Given the description of an element on the screen output the (x, y) to click on. 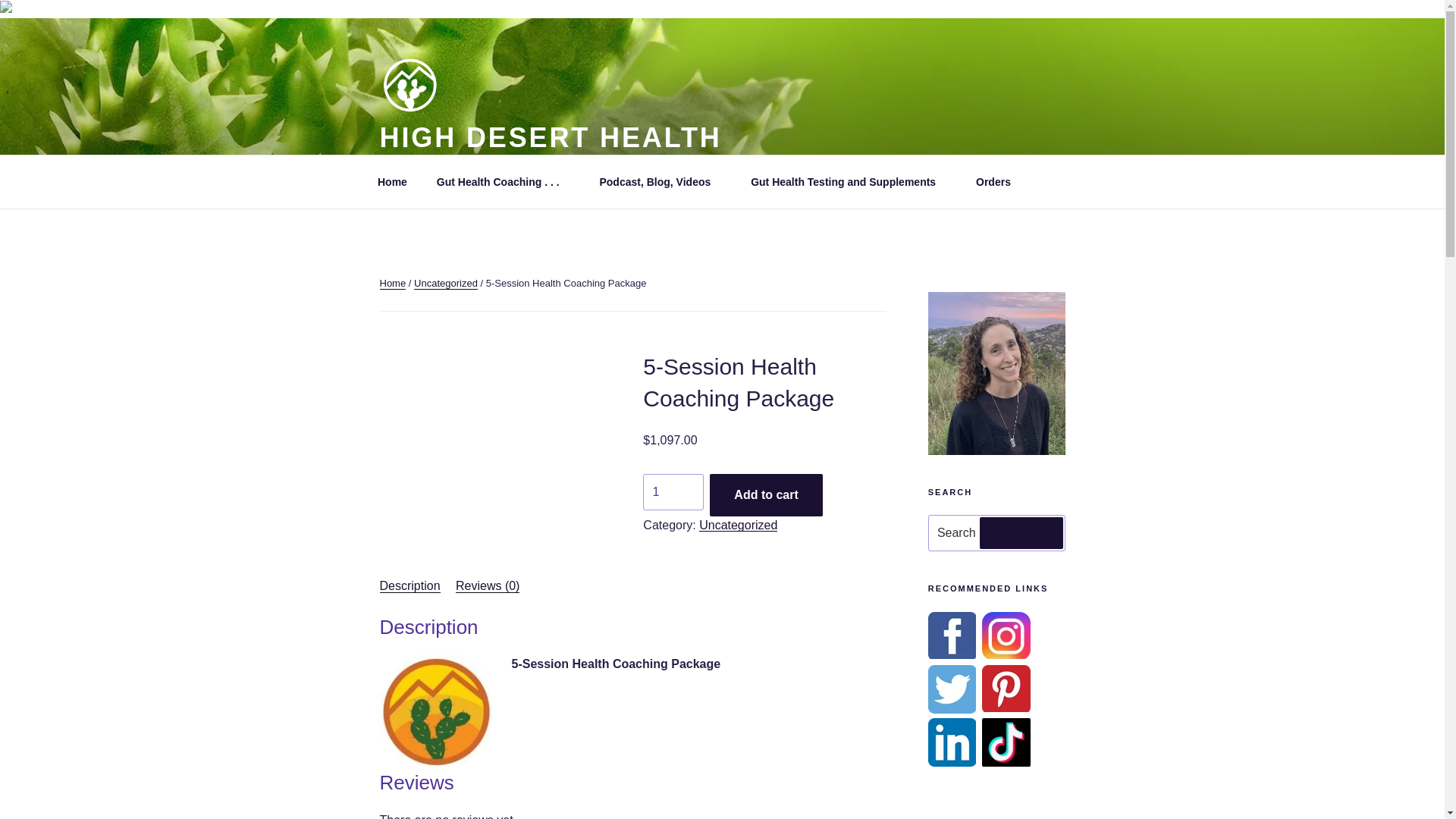
1 (673, 492)
Podcast, Blog, Videos (660, 181)
Home (392, 181)
Gut Health Coaching . . . (503, 181)
HIGH DESERT HEALTH (549, 137)
